Given the description of an element on the screen output the (x, y) to click on. 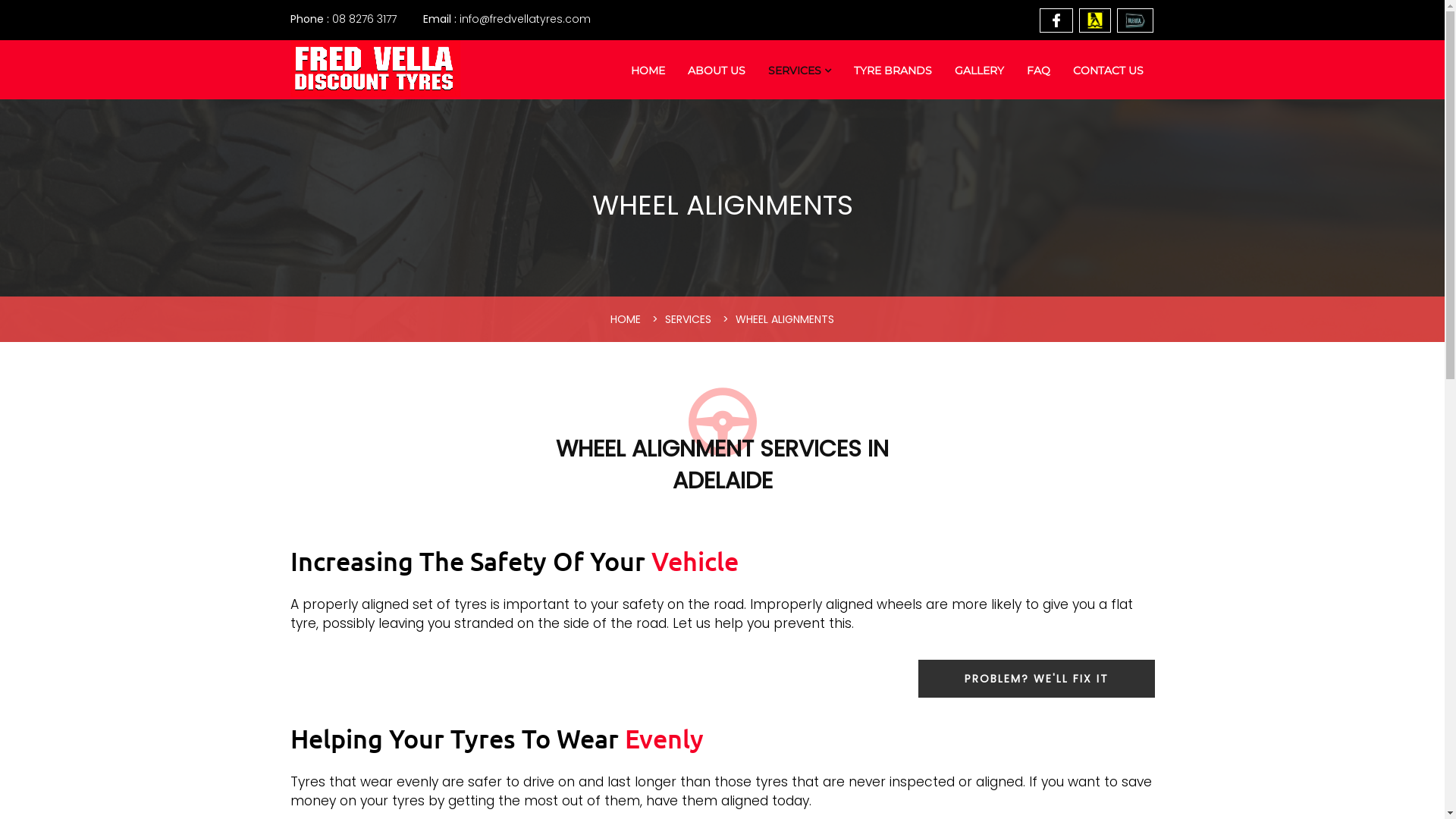
SERVICES Element type: text (688, 318)
HOME Element type: text (625, 318)
ABOUT US Element type: text (716, 70)
PROBLEM? WE'LL FIX IT Element type: text (1035, 678)
SERVICES Element type: text (799, 70)
08 8276 3177 Element type: text (342, 18)
HOME Element type: text (646, 70)
GALLERY Element type: text (979, 70)
FAQ Element type: text (1037, 70)
info@fredvellatyres.com Element type: text (506, 18)
TYRE BRANDS Element type: text (891, 70)
CONTACT US Element type: text (1107, 70)
